Given the description of an element on the screen output the (x, y) to click on. 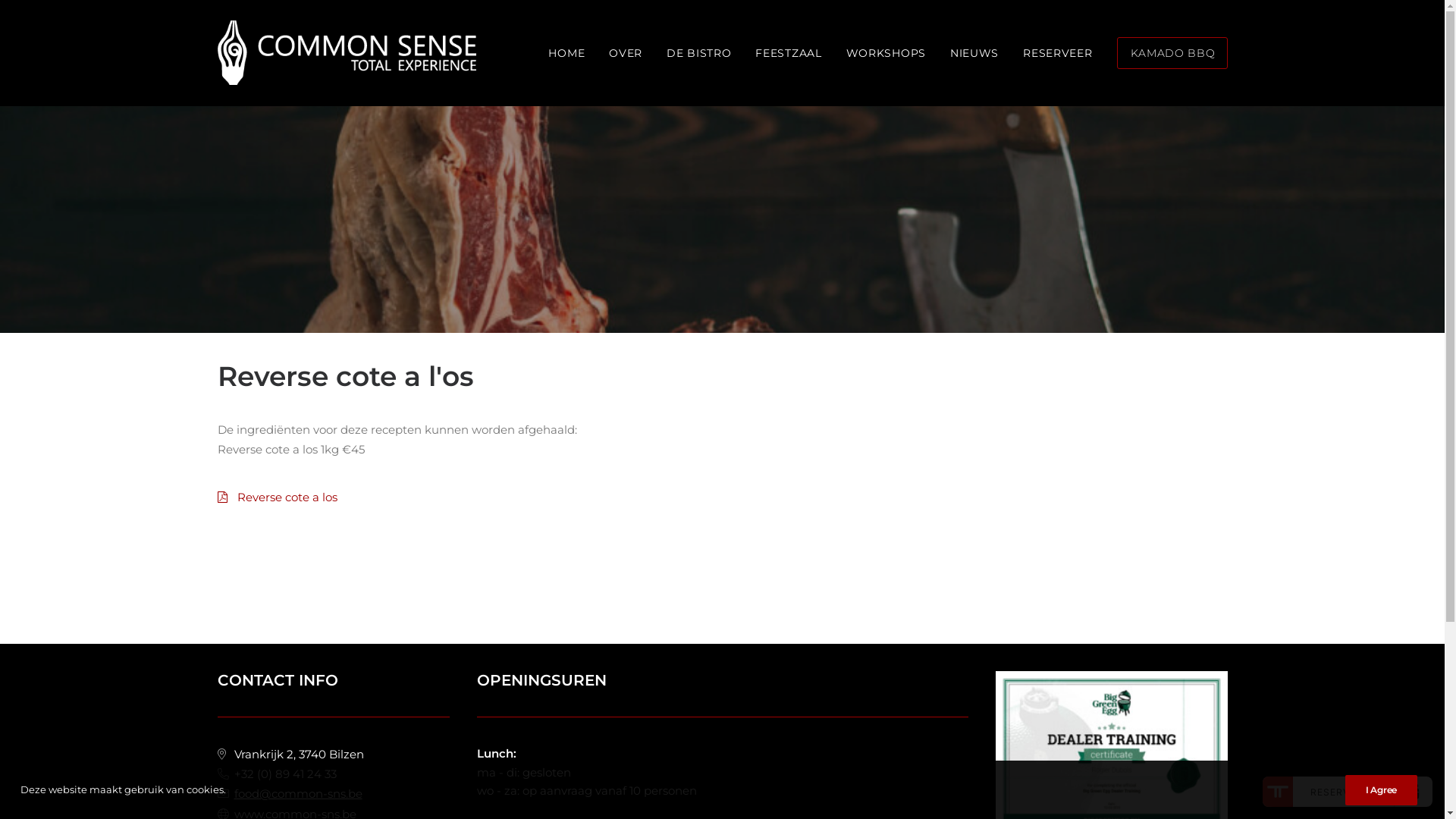
I Agree Element type: text (1381, 790)
food@common-sns.be Element type: text (297, 793)
NIEUWS Element type: text (974, 52)
RESERVEER Element type: text (1057, 52)
WORKSHOPS Element type: text (885, 52)
DE BISTRO Element type: text (698, 52)
HOME Element type: text (571, 52)
Reverse cote a los Element type: text (287, 496)
OVER Element type: text (625, 52)
FEESTZAAL Element type: text (787, 52)
KAMADO BBQ Element type: text (1165, 52)
